Given the description of an element on the screen output the (x, y) to click on. 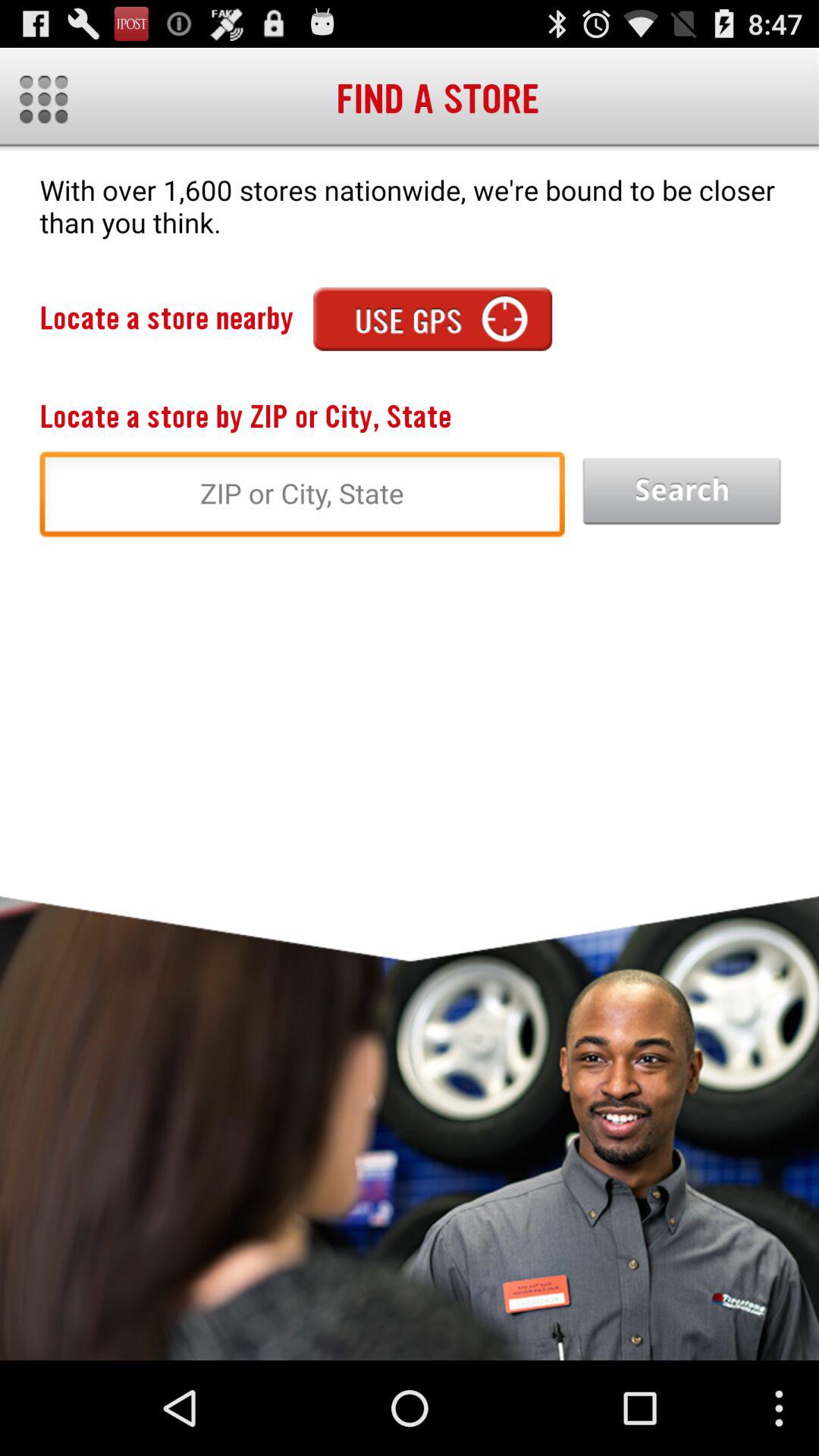
enter the search field (301, 498)
